Given the description of an element on the screen output the (x, y) to click on. 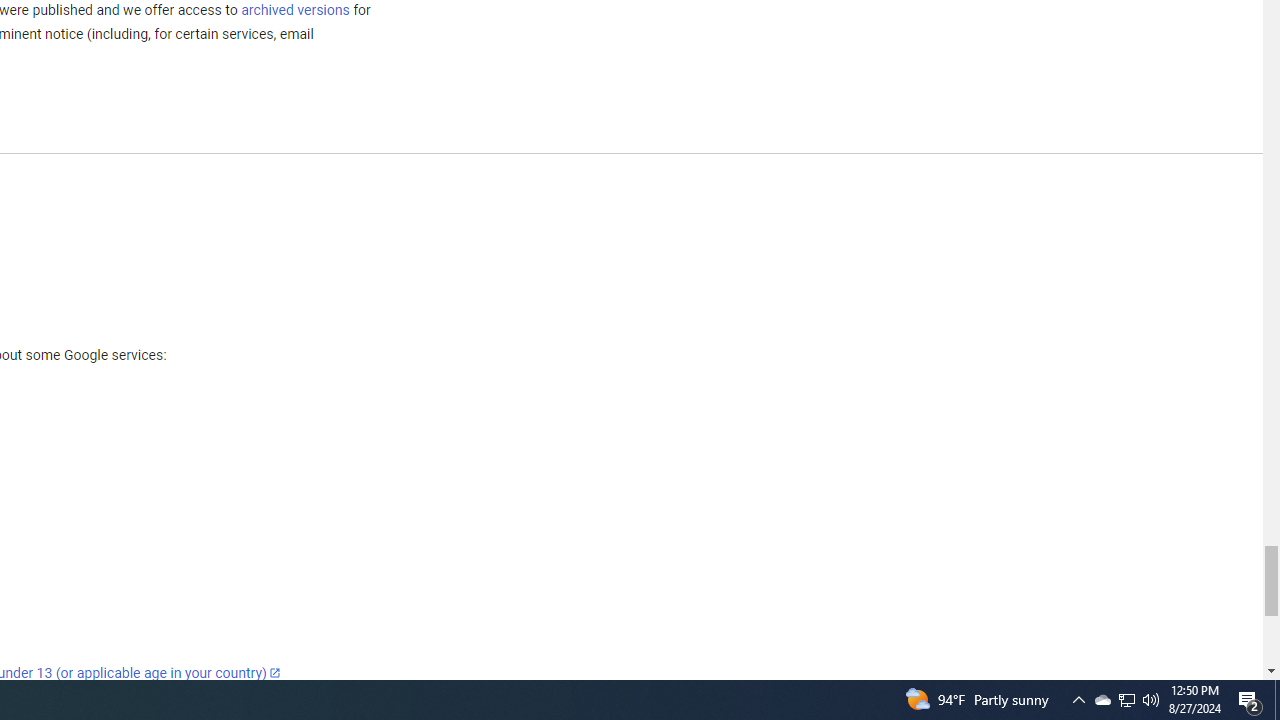
archived versions (294, 9)
